Given the description of an element on the screen output the (x, y) to click on. 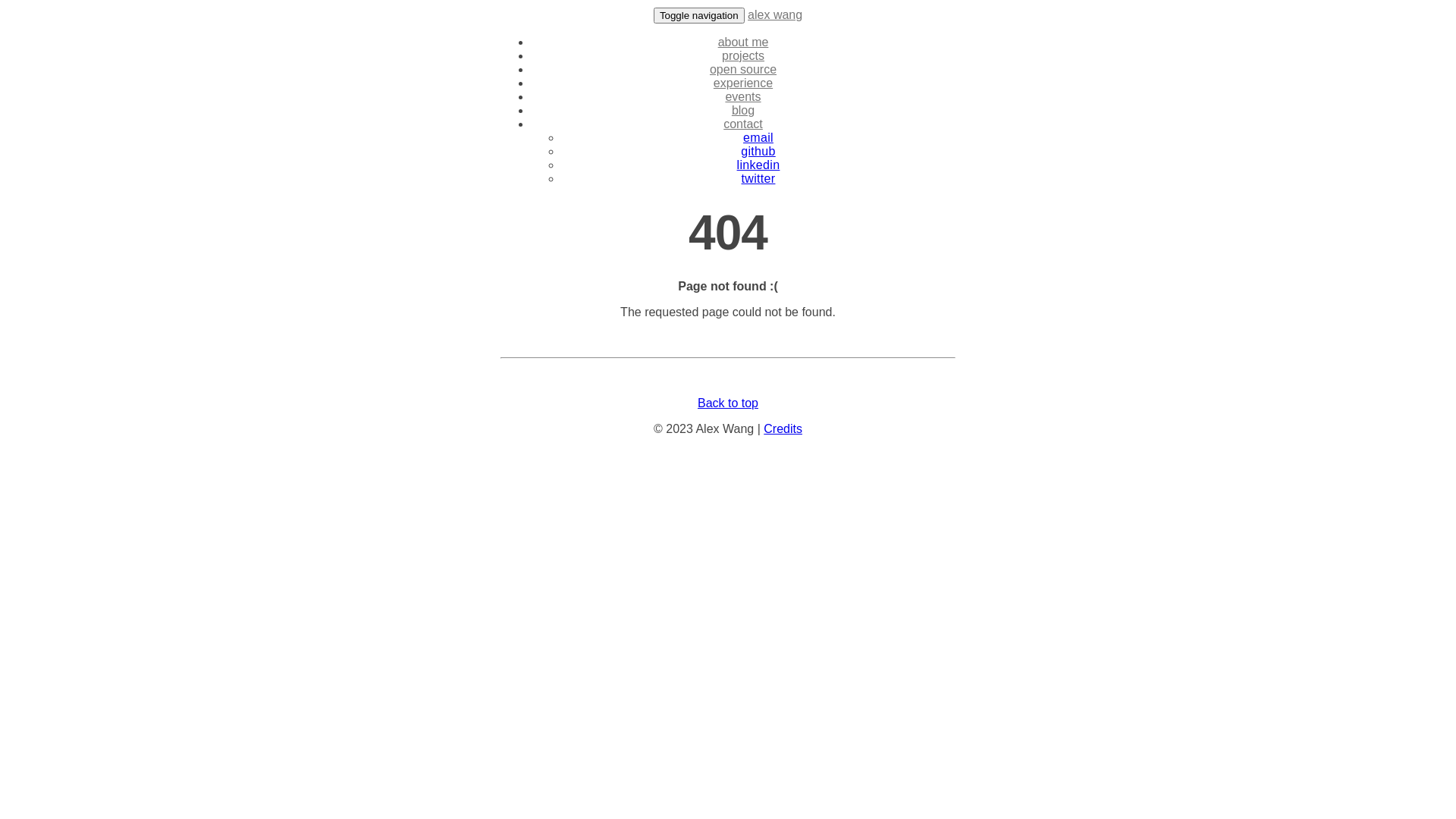
open source Element type: text (742, 68)
Back to top Element type: text (727, 402)
alex wang Element type: text (774, 14)
projects Element type: text (742, 55)
Credits Element type: text (782, 428)
github Element type: text (757, 150)
contact Element type: text (742, 123)
Toggle navigation Element type: text (698, 15)
email Element type: text (758, 137)
blog Element type: text (742, 109)
twitter Element type: text (758, 178)
about me Element type: text (743, 41)
experience Element type: text (742, 82)
linkedin Element type: text (758, 164)
events Element type: text (742, 96)
